Given the description of an element on the screen output the (x, y) to click on. 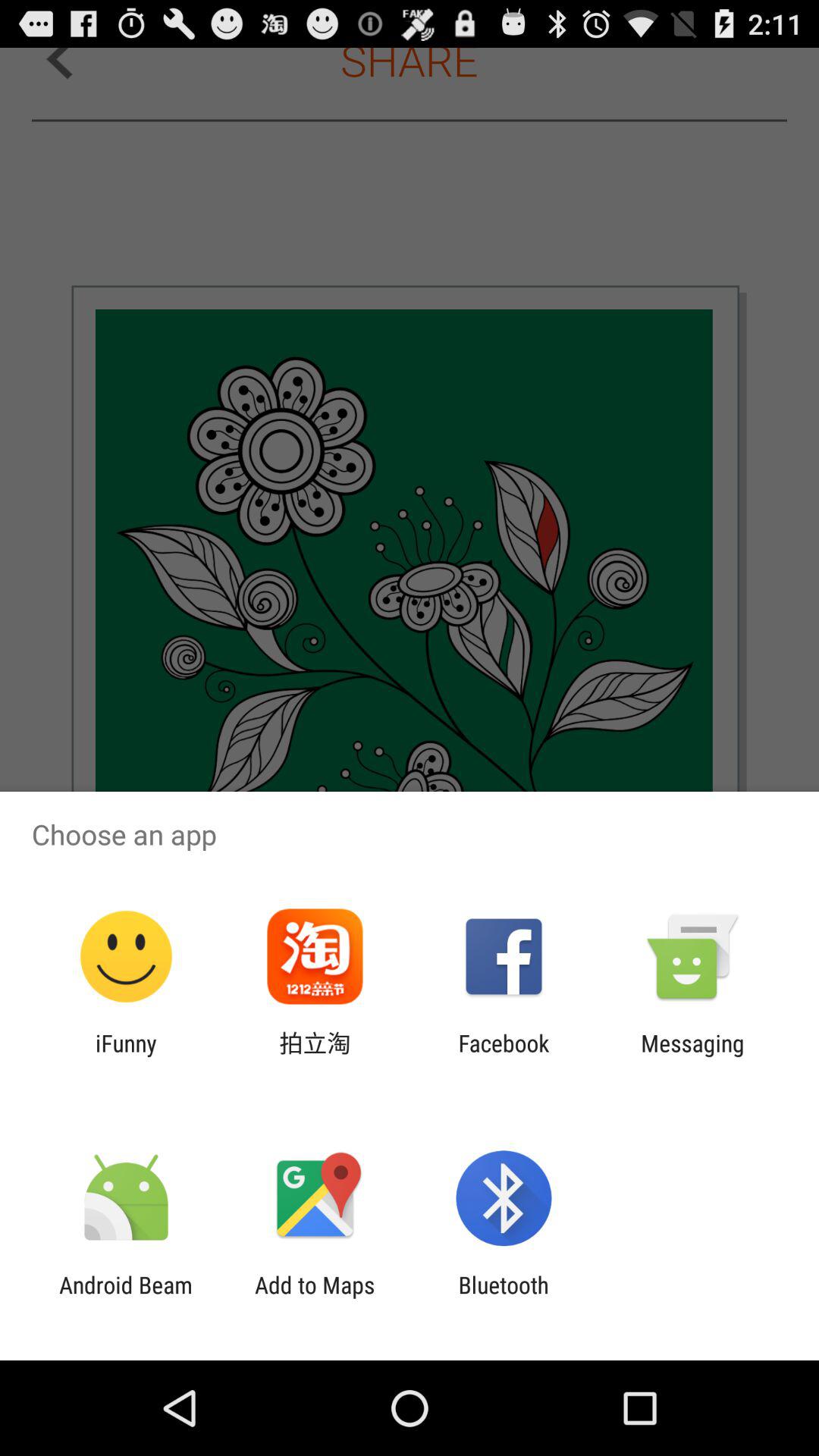
select app to the left of the messaging icon (503, 1056)
